Given the description of an element on the screen output the (x, y) to click on. 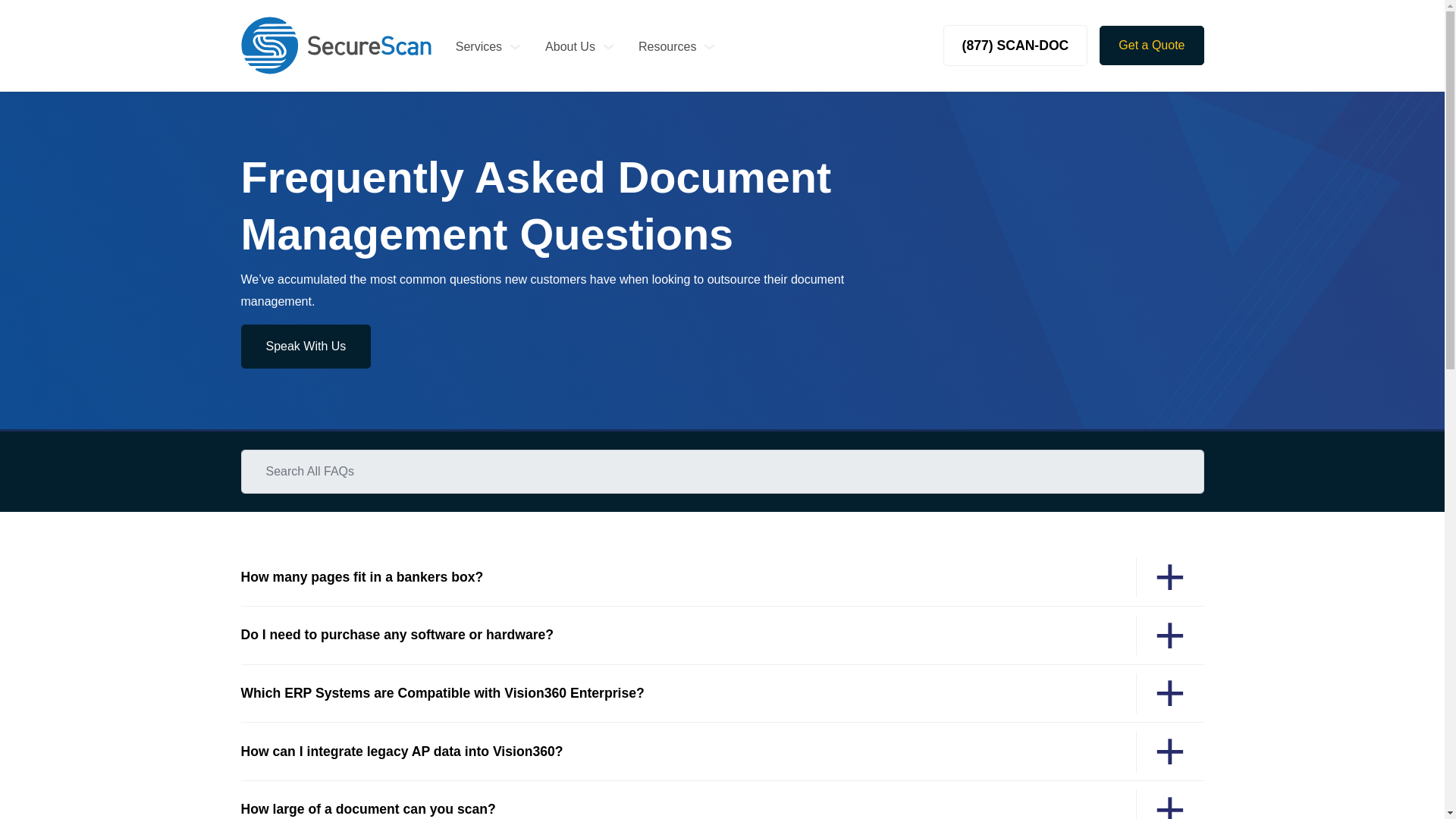
Resources (676, 45)
Services (488, 45)
About Us (579, 45)
Speak With Us (306, 346)
Get a Quote (1151, 45)
